Given the description of an element on the screen output the (x, y) to click on. 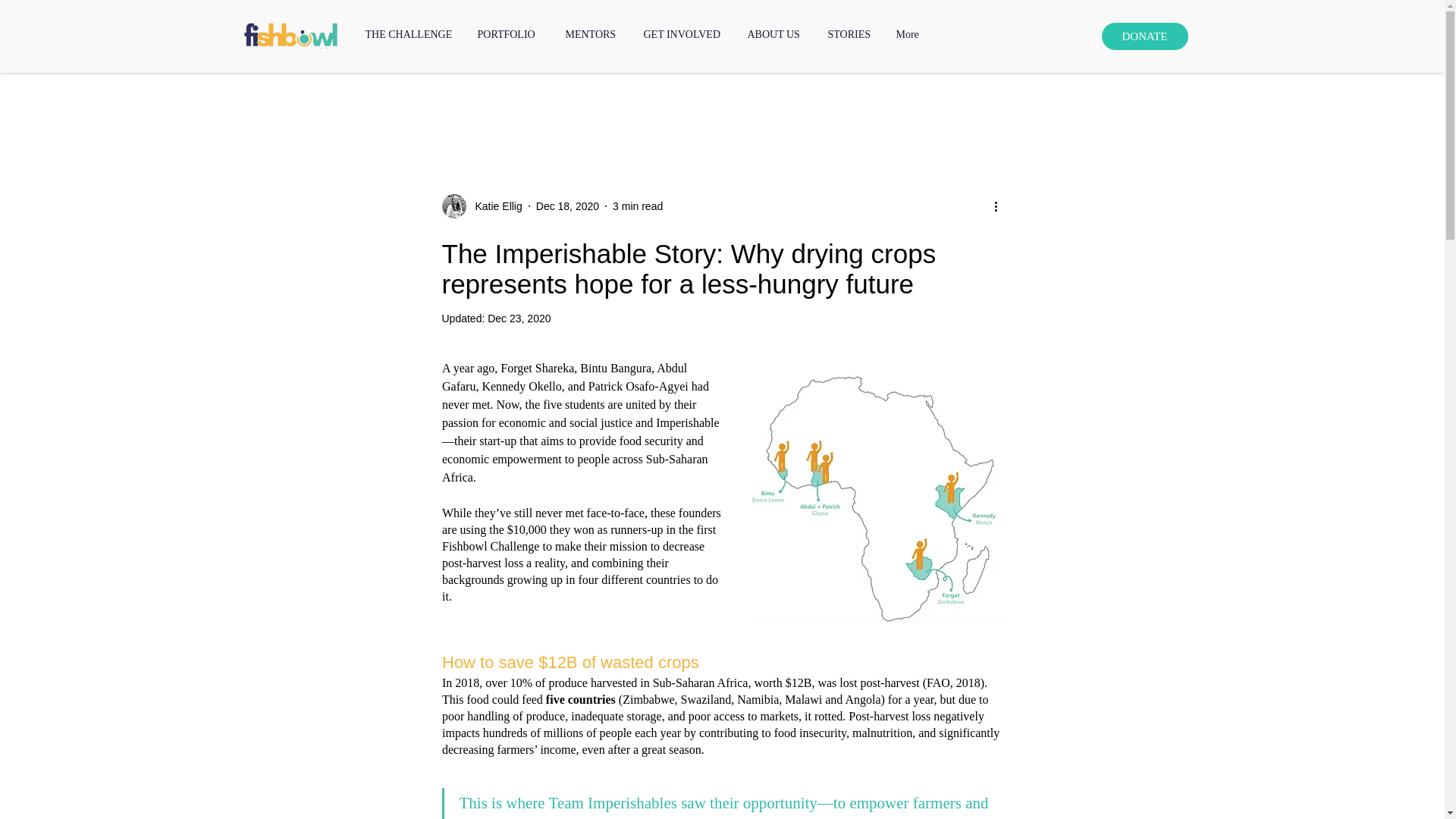
Katie Ellig (493, 206)
Dec 18, 2020 (566, 205)
Dec 23, 2020 (518, 318)
Katie Ellig (481, 206)
PORTFOLIO (509, 34)
MENTORS (592, 34)
All Posts (395, 102)
3 min read (637, 205)
DONATE (1144, 35)
